Given the description of an element on the screen output the (x, y) to click on. 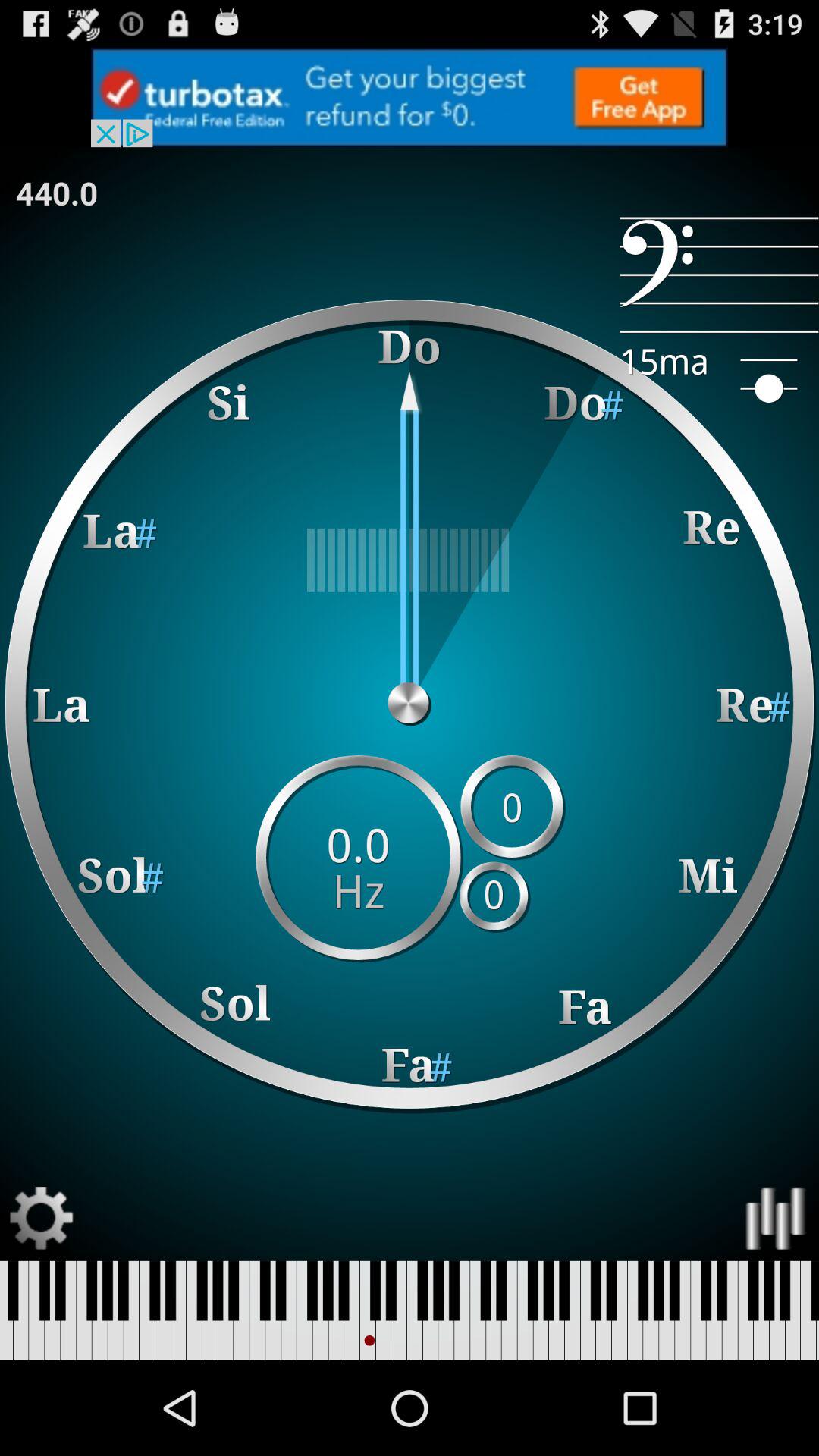
open settings (42, 1218)
